Given the description of an element on the screen output the (x, y) to click on. 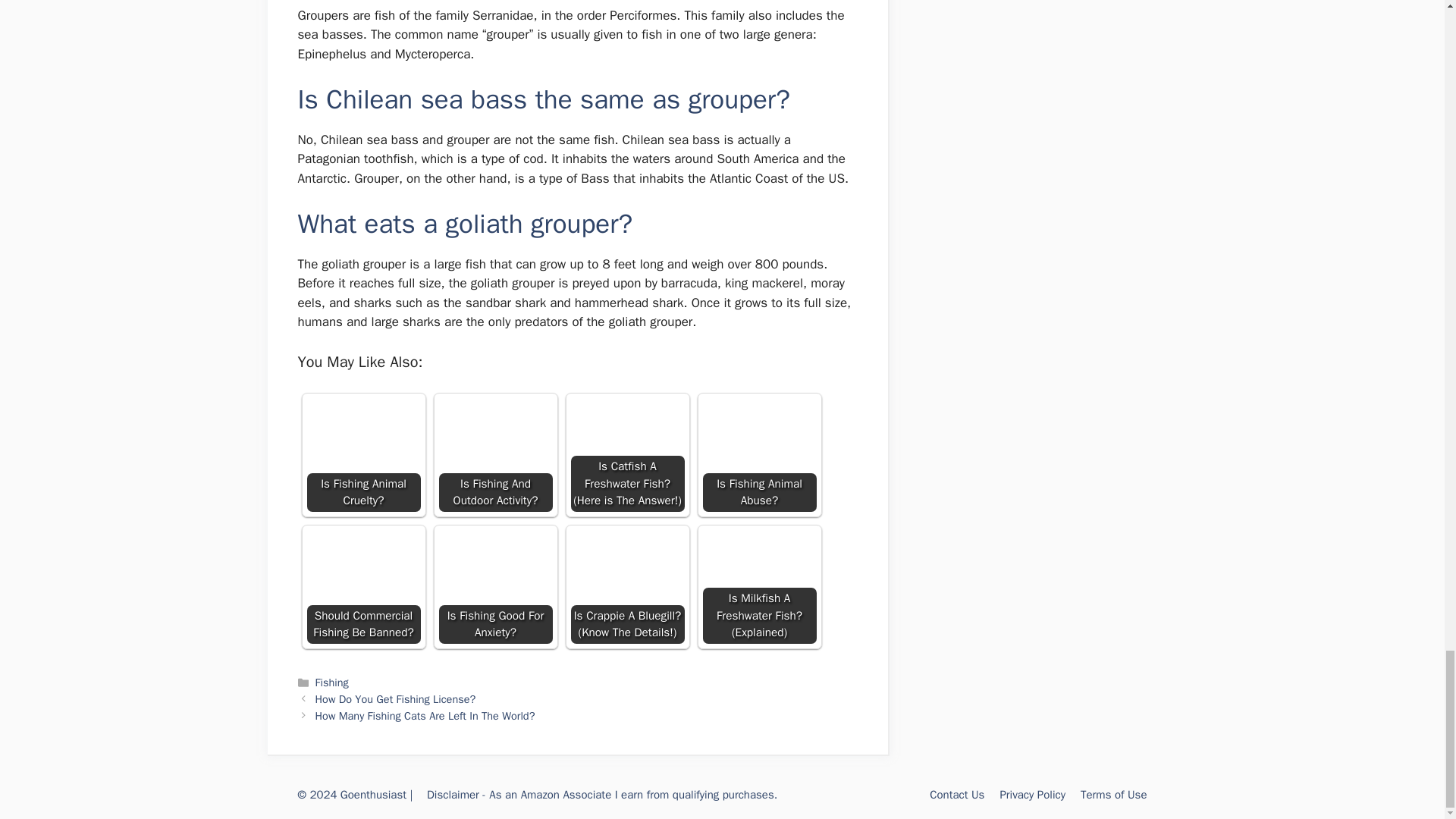
Is Fishing And Outdoor Activity? (494, 436)
Fishing (332, 682)
Is Fishing Animal Abuse? (758, 429)
Is Fishing And Outdoor Activity? (494, 454)
Is Fishing Animal Cruelty? (362, 432)
Privacy Policy (1031, 794)
How Do You Get Fishing License? (395, 698)
Contact Us (957, 794)
How Many Fishing Cats Are Left In The World? (425, 715)
Is Fishing Animal Abuse? (758, 454)
Terms of Use (1113, 794)
Is Fishing Good For Anxiety? (494, 567)
Is Fishing Good For Anxiety? (494, 586)
Is Fishing Animal Cruelty? (362, 454)
Should Commercial Fishing Be Banned? (362, 586)
